Given the description of an element on the screen output the (x, y) to click on. 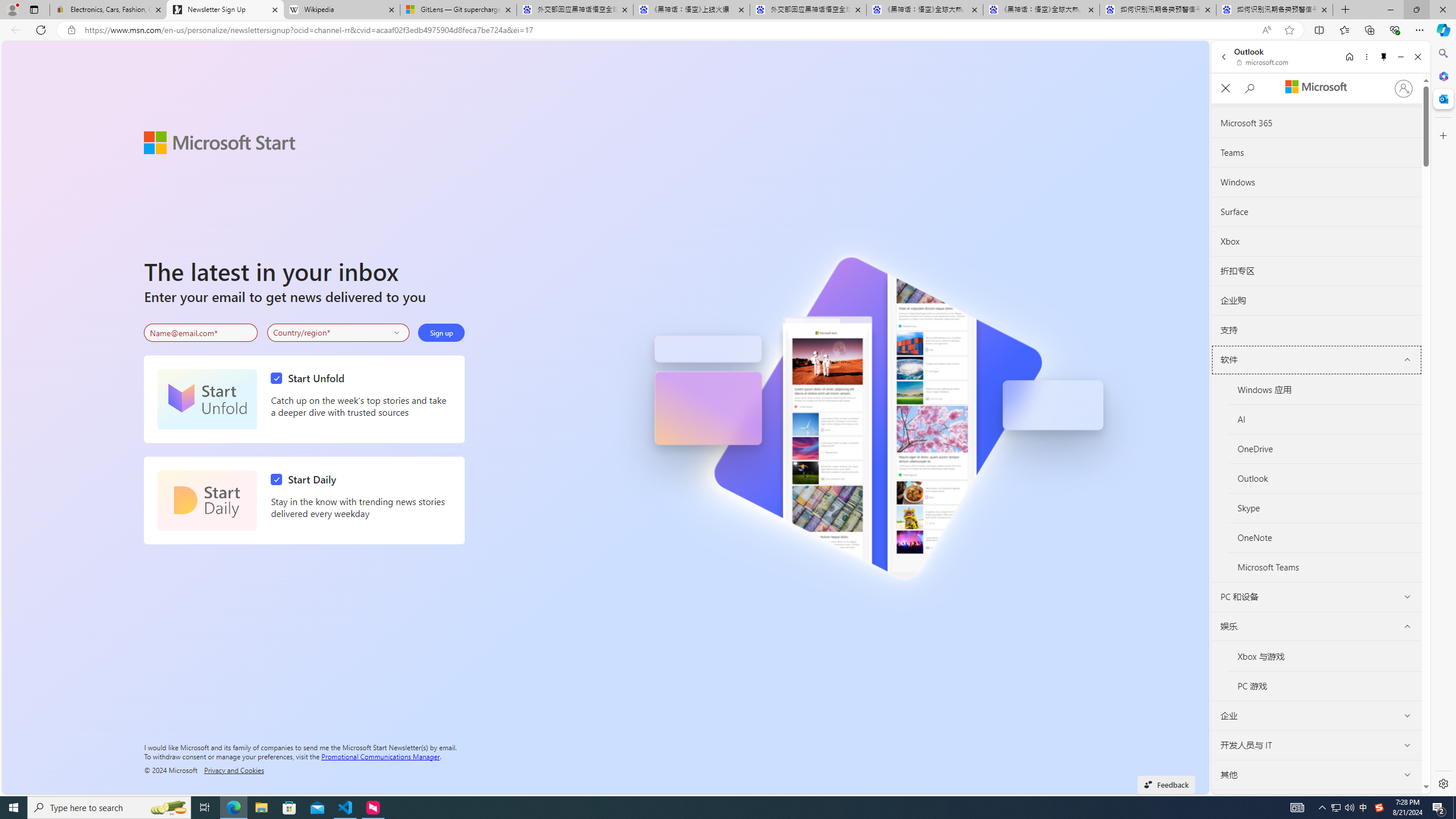
Select your country (338, 332)
Promotional Communications Manager (380, 755)
Teams (1316, 152)
Windows (1316, 182)
Start Daily (306, 479)
